Given the description of an element on the screen output the (x, y) to click on. 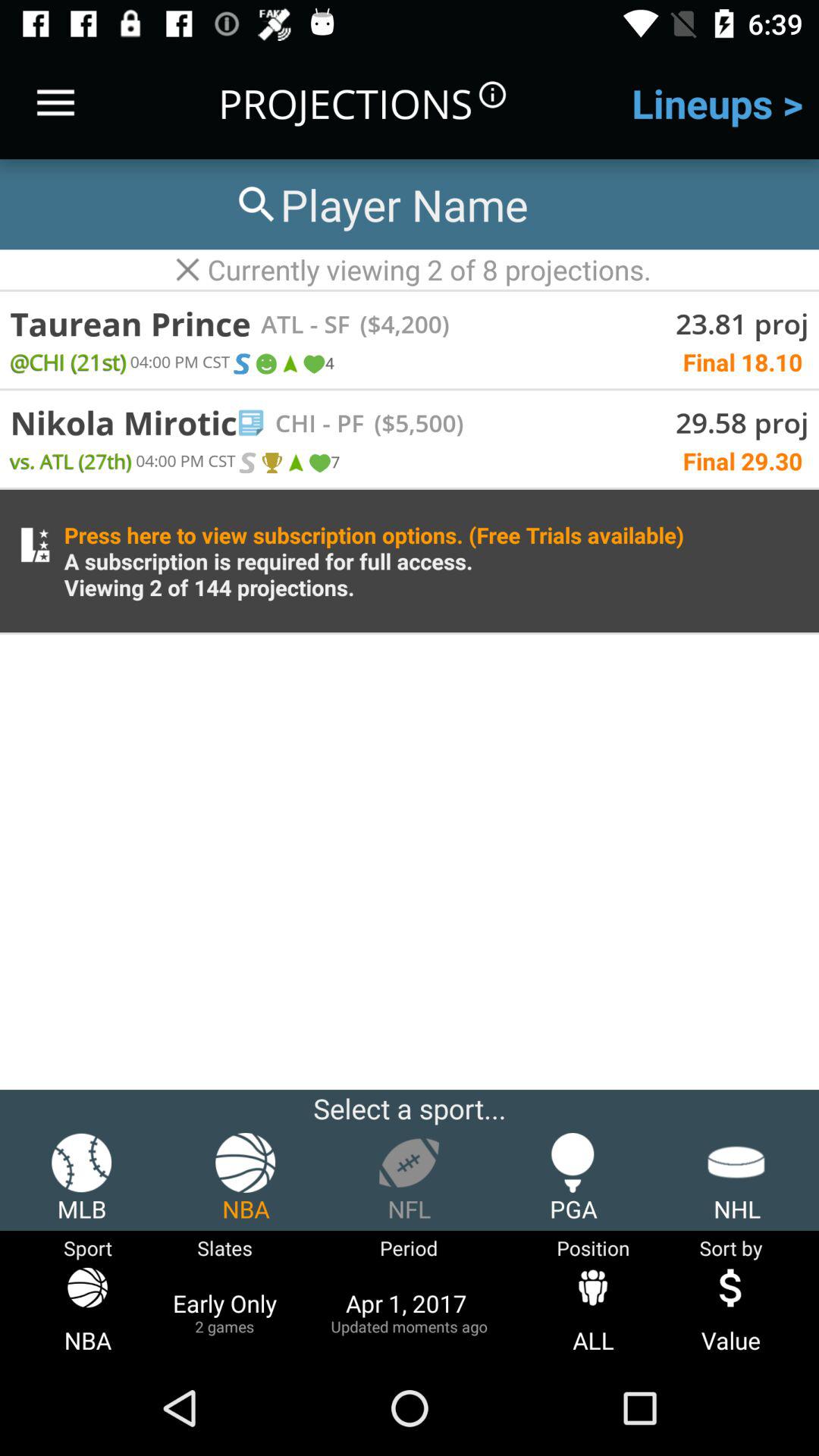
search player name type bar (380, 204)
